Given the description of an element on the screen output the (x, y) to click on. 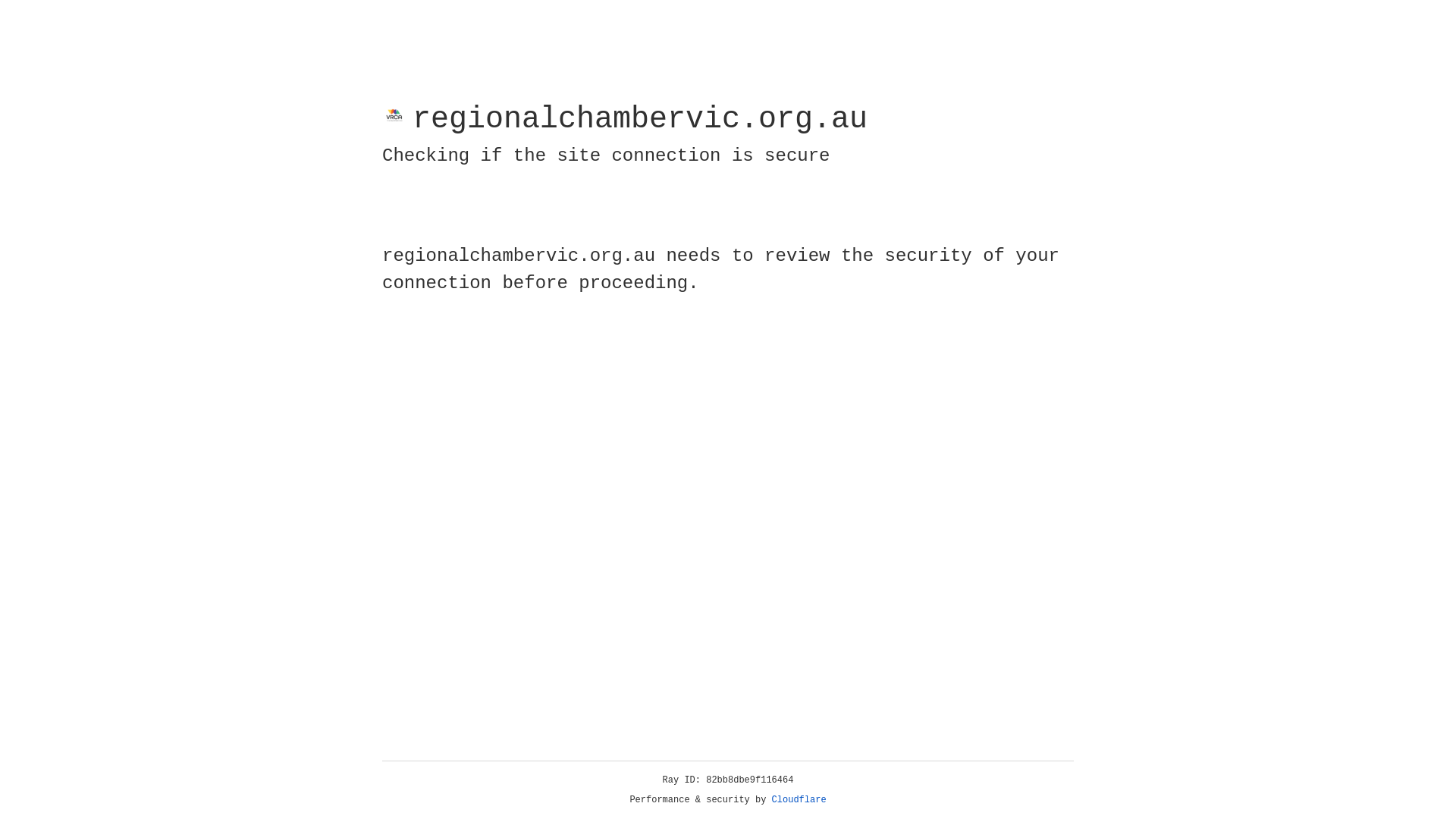
Cloudflare Element type: text (798, 799)
